Given the description of an element on the screen output the (x, y) to click on. 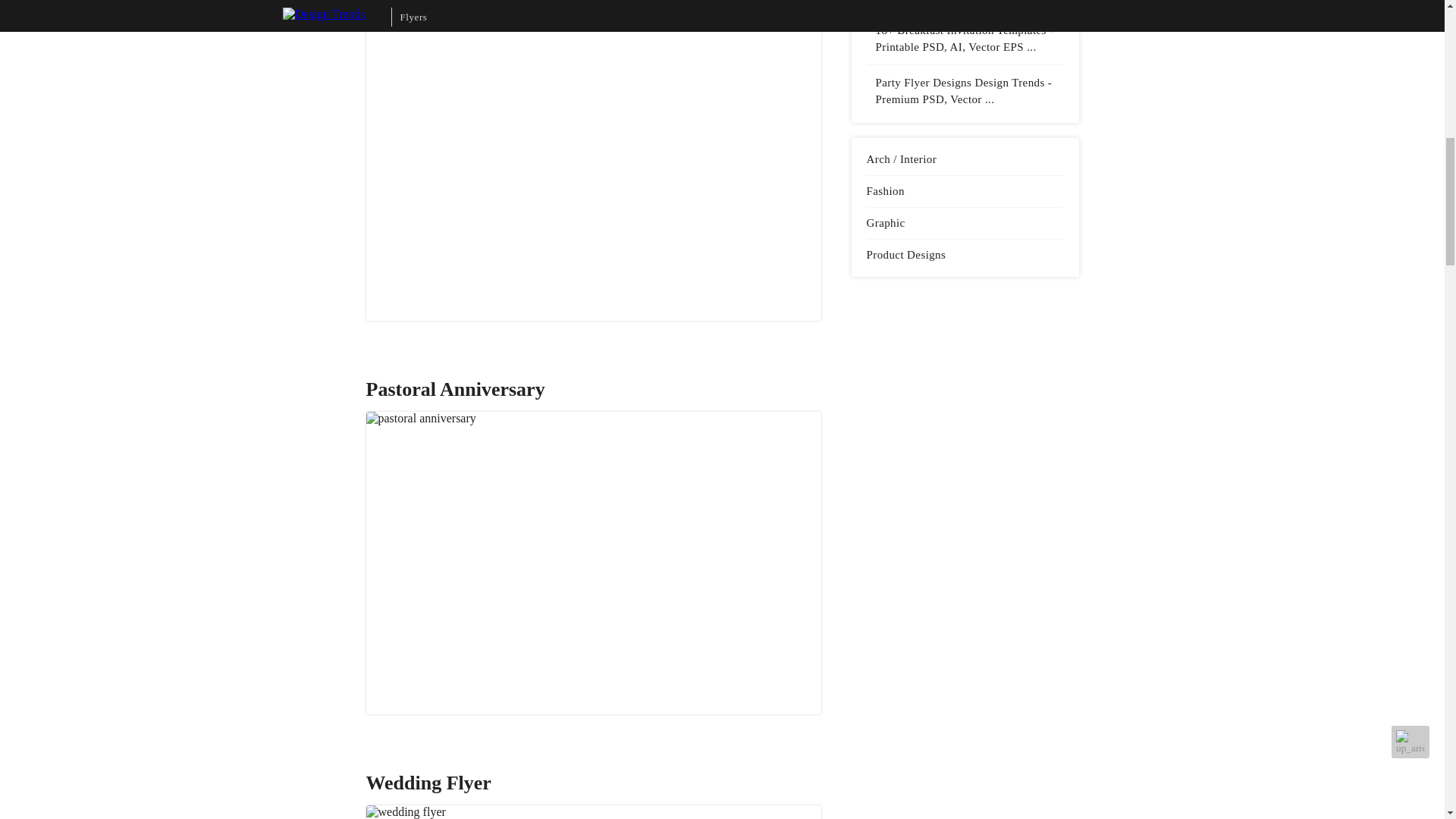
Party Flyer Designs Design Trends - Premium PSD, Vector ... (964, 90)
Graphic (964, 223)
PSD Flyer Designs Design Trends - Premium PSD, Vector ... (964, 1)
Product Designs (964, 254)
Fashion (964, 191)
